Given the description of an element on the screen output the (x, y) to click on. 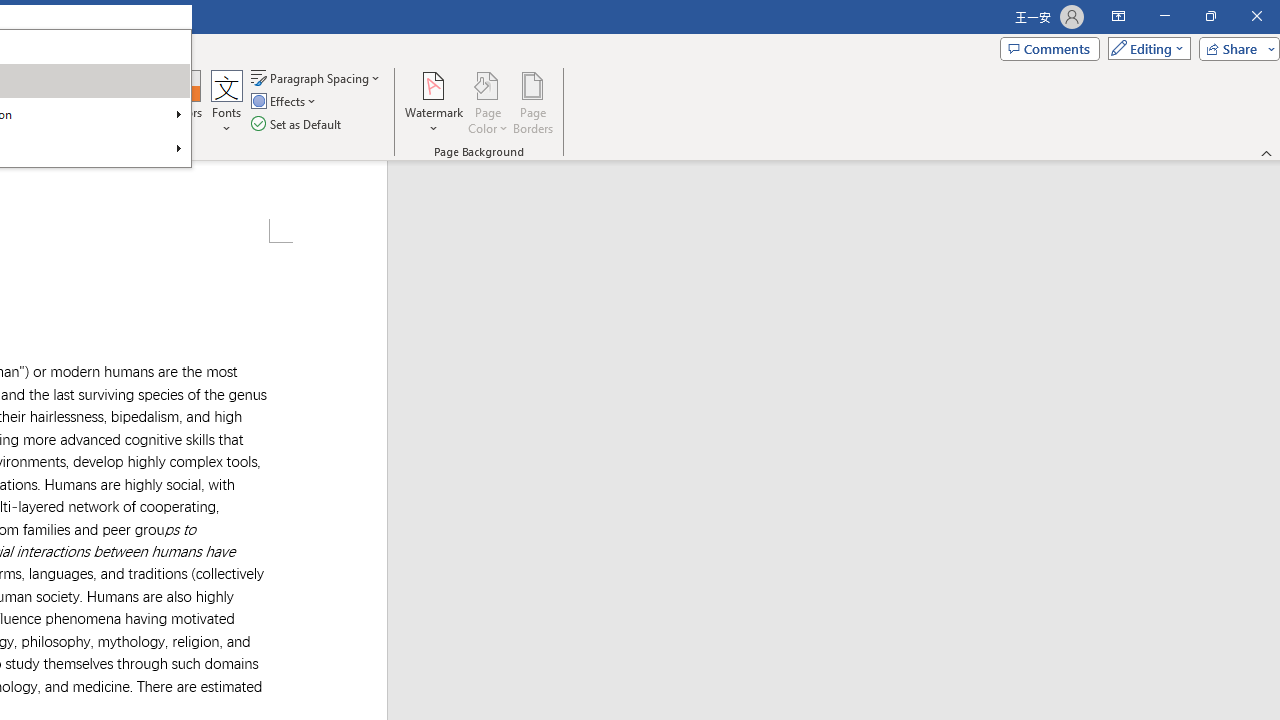
Fonts (227, 102)
Editing (1144, 47)
Page Color (487, 102)
Style Set (153, 120)
